Given the description of an element on the screen output the (x, y) to click on. 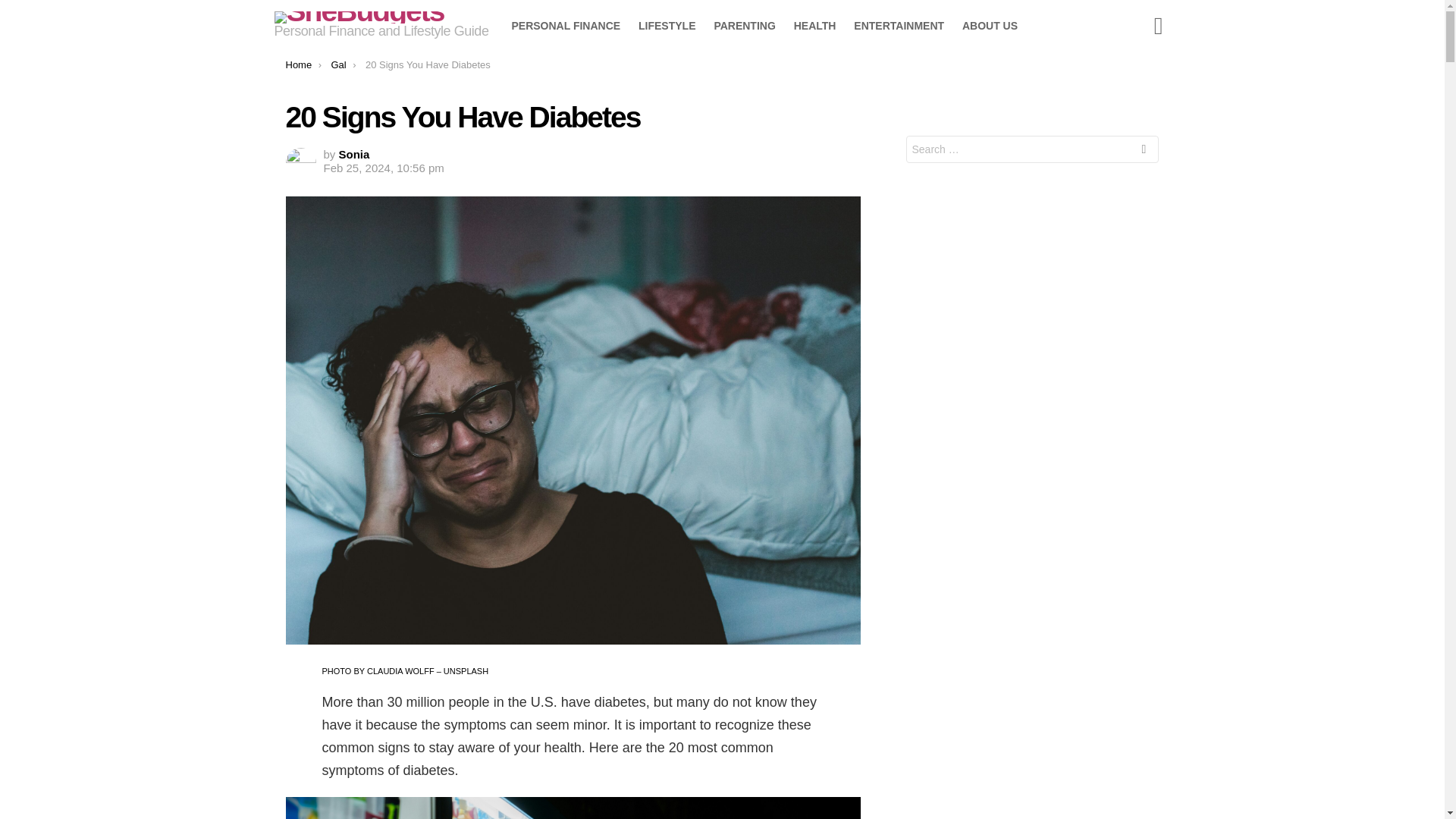
HEALTH (815, 25)
Search for: (1031, 148)
PARENTING (744, 25)
SEARCH (1143, 151)
Sonia (354, 154)
PERSONAL FINANCE (565, 25)
Posts by Sonia (354, 154)
ENTERTAINMENT (898, 25)
Gal (338, 64)
LIFESTYLE (666, 25)
Home (298, 64)
ABOUT US (990, 25)
